Given the description of an element on the screen output the (x, y) to click on. 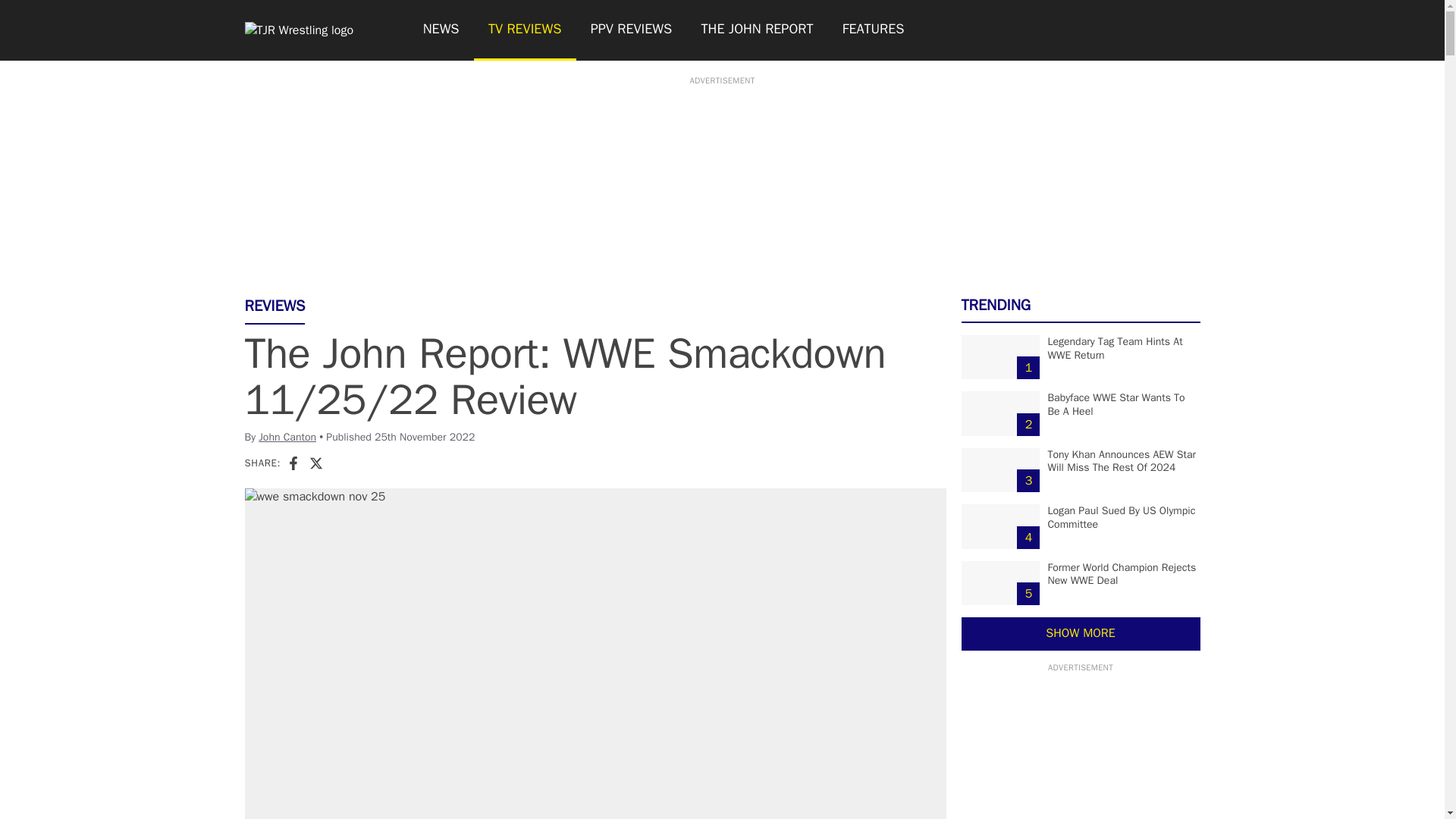
TV REVIEWS (525, 30)
THE JOHN REPORT (756, 30)
Facebook (292, 463)
NEWS (440, 30)
PPV REVIEWS (631, 30)
X (315, 462)
FEATURES (873, 30)
John Canton (287, 436)
Facebook (292, 462)
X (315, 463)
